Given the description of an element on the screen output the (x, y) to click on. 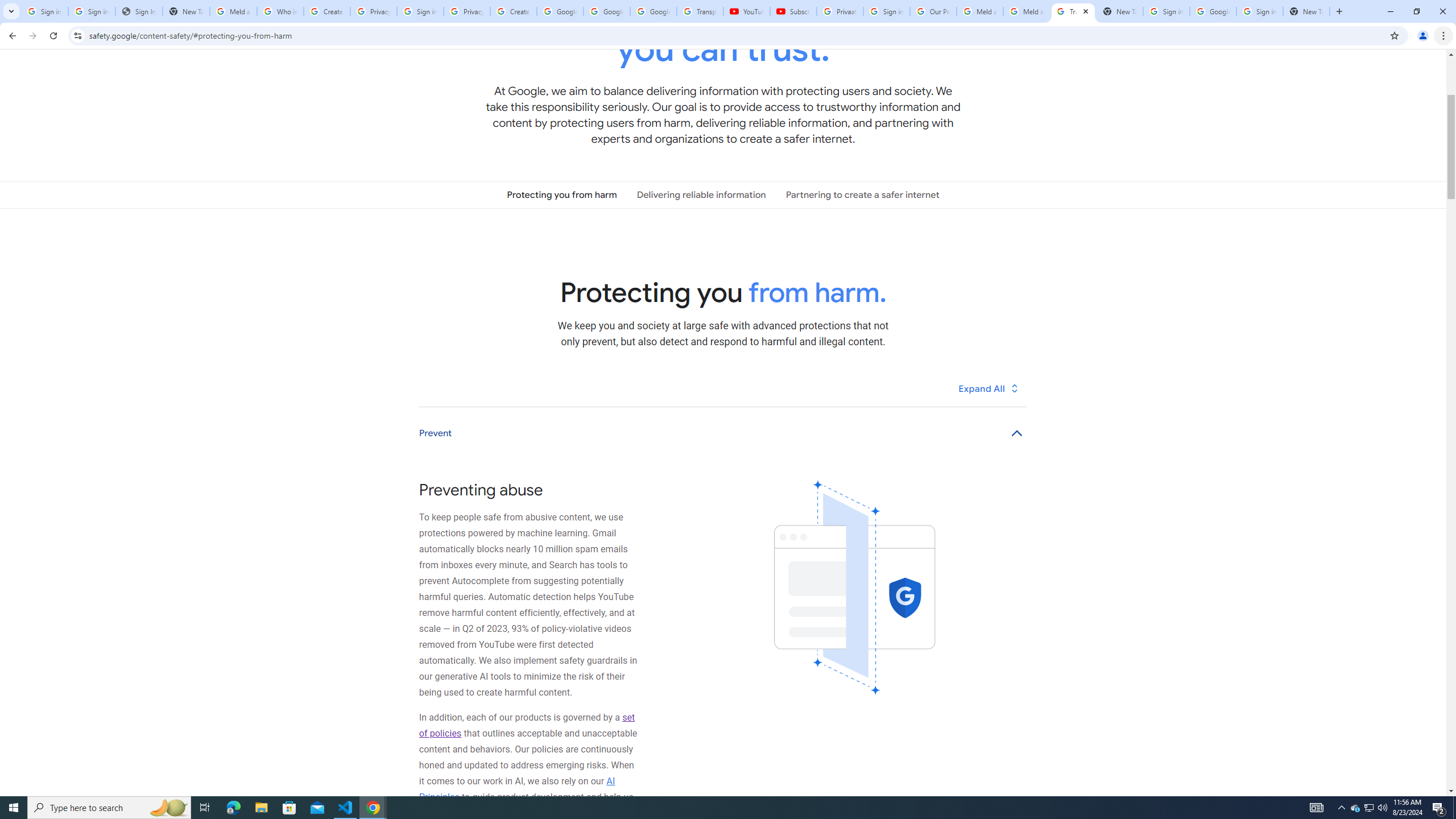
Subscriptions - YouTube (792, 11)
Sign in - Google Accounts (1166, 11)
Google Cybersecurity Innovations - Google Safety Center (1213, 11)
Who is my administrator? - Google Account Help (279, 11)
